Given the description of an element on the screen output the (x, y) to click on. 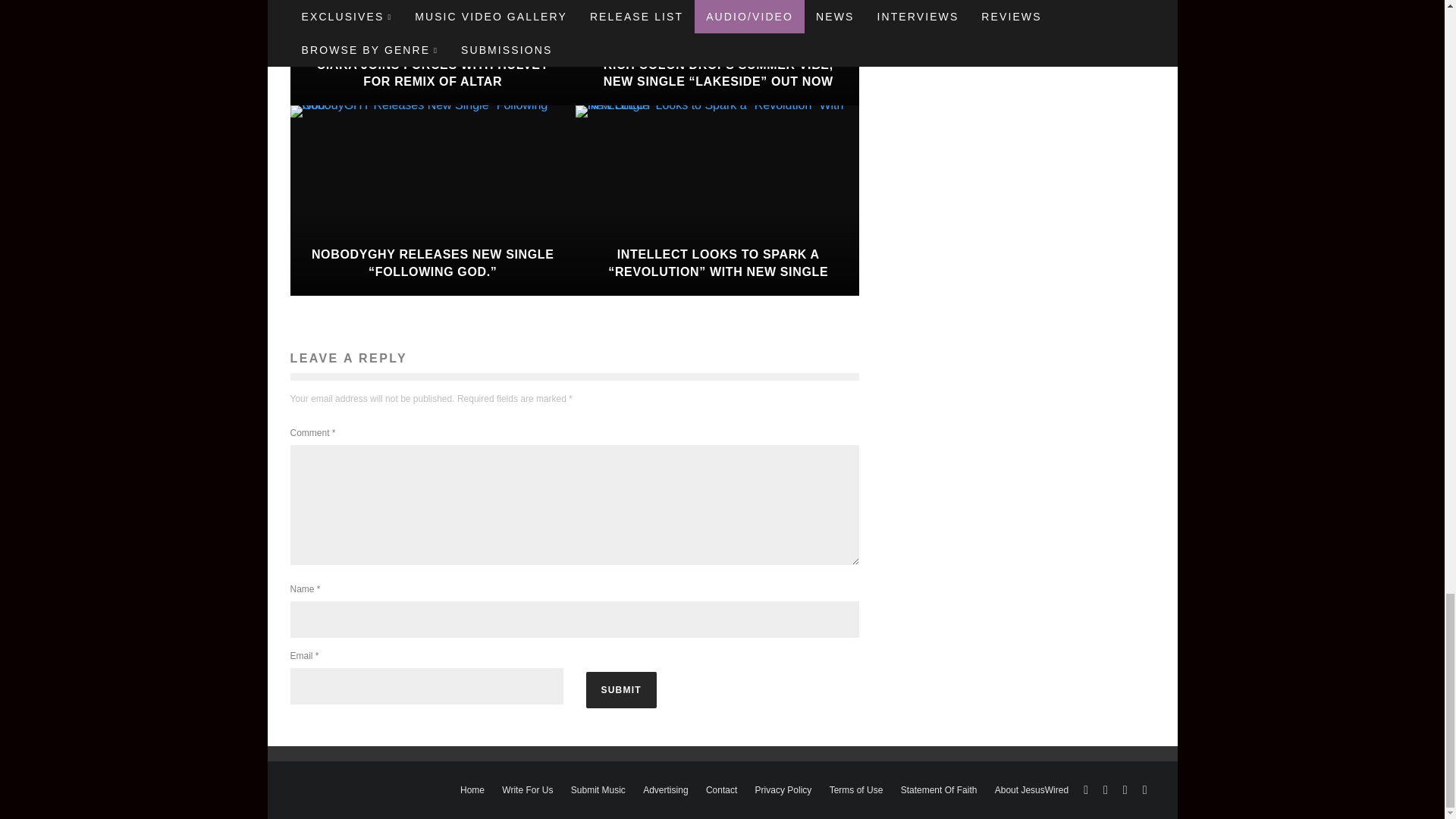
Submit (620, 689)
